Given the description of an element on the screen output the (x, y) to click on. 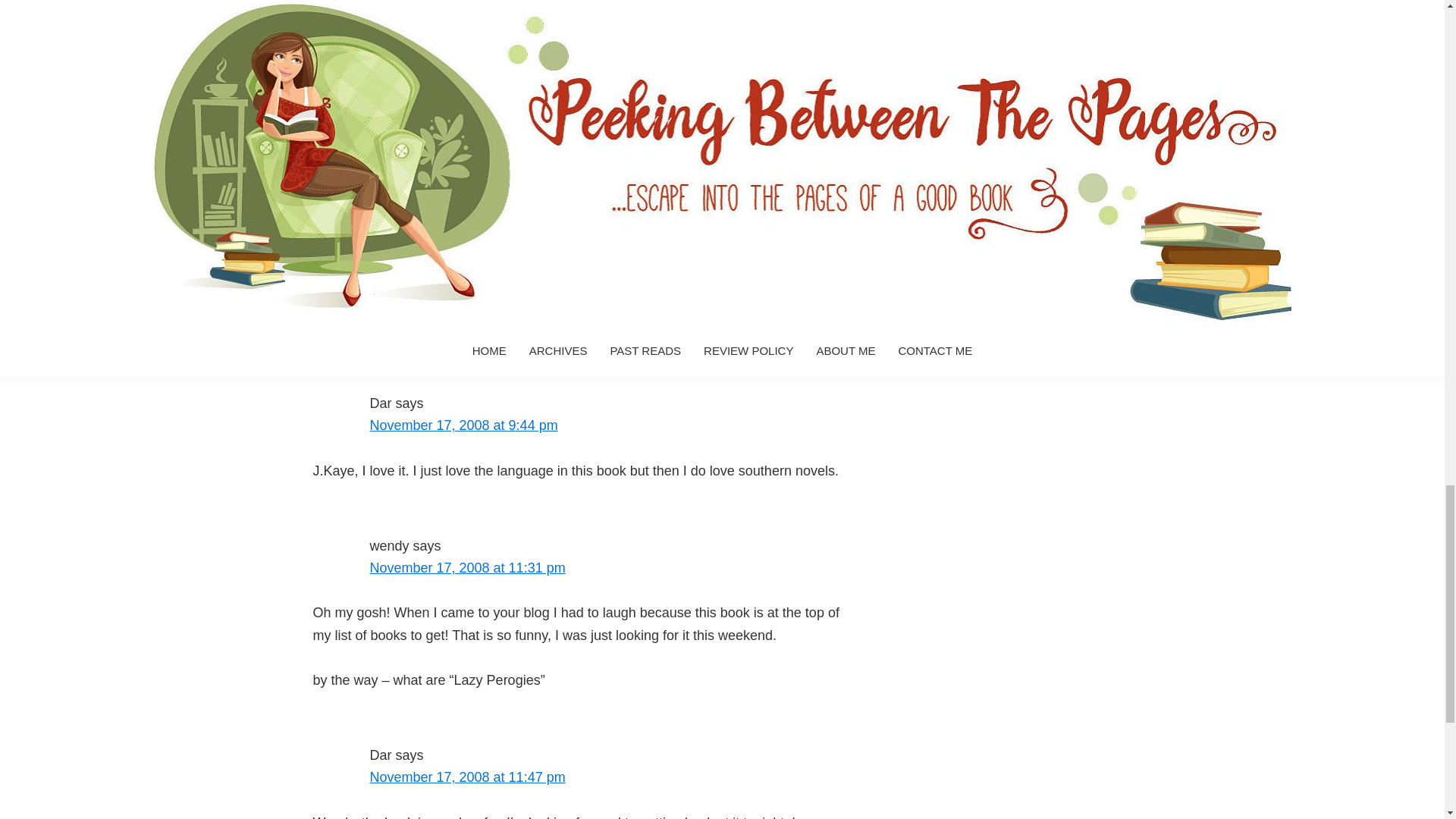
November 17, 2008 at 9:31 pm (463, 140)
November 17, 2008 at 11:31 pm (467, 567)
November 17, 2008 at 11:47 pm (467, 776)
November 17, 2008 at 9:44 pm (463, 425)
November 17, 2008 at 9:34 pm (463, 283)
